Given the description of an element on the screen output the (x, y) to click on. 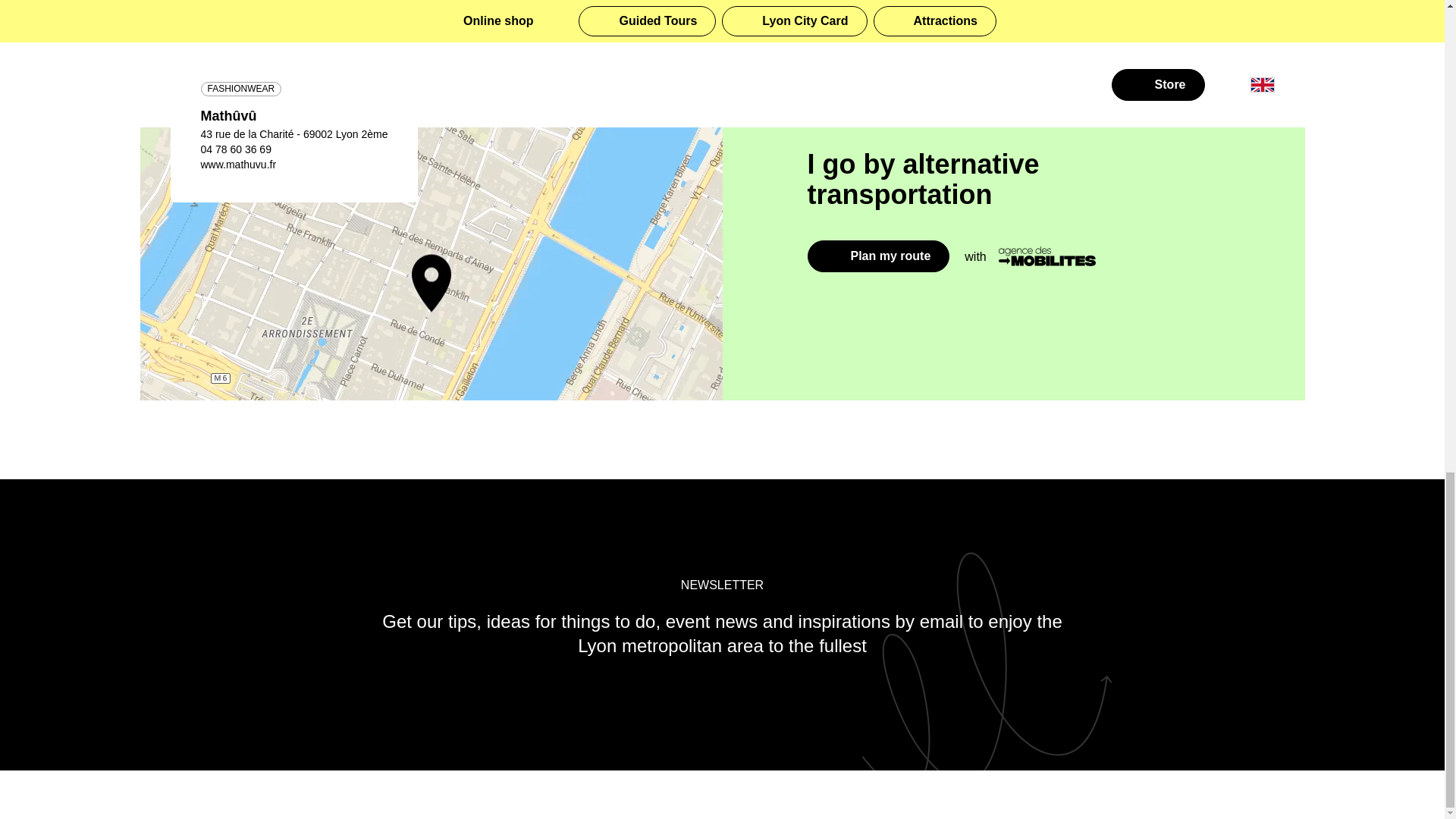
www.mathuvu.fr (238, 164)
04 78 60 36 69 (235, 149)
Plan my route (877, 255)
